Given the description of an element on the screen output the (x, y) to click on. 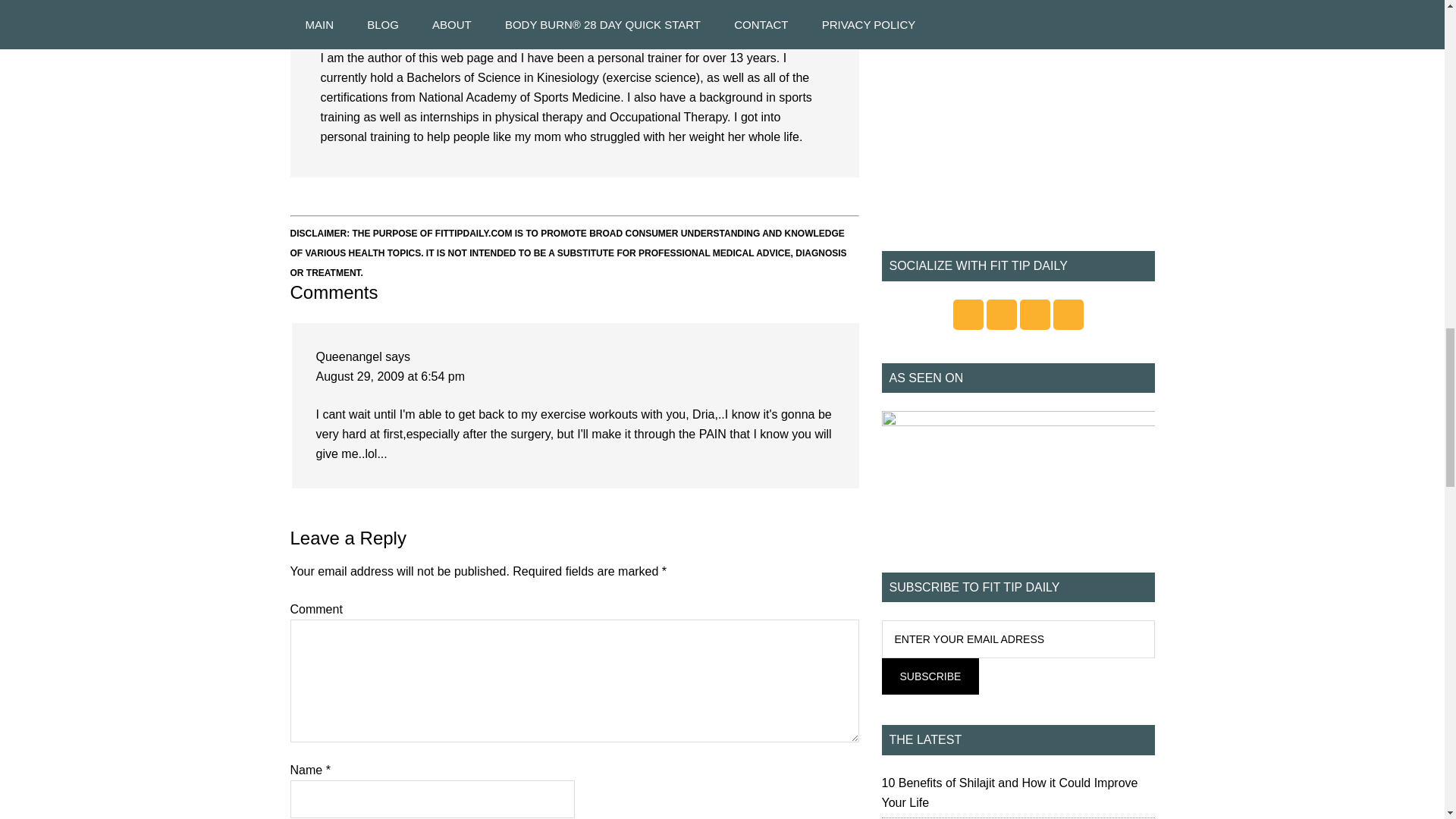
SUBSCRIBE (929, 676)
ENTER YOUR EMAIL ADRESS (1017, 638)
